Given the description of an element on the screen output the (x, y) to click on. 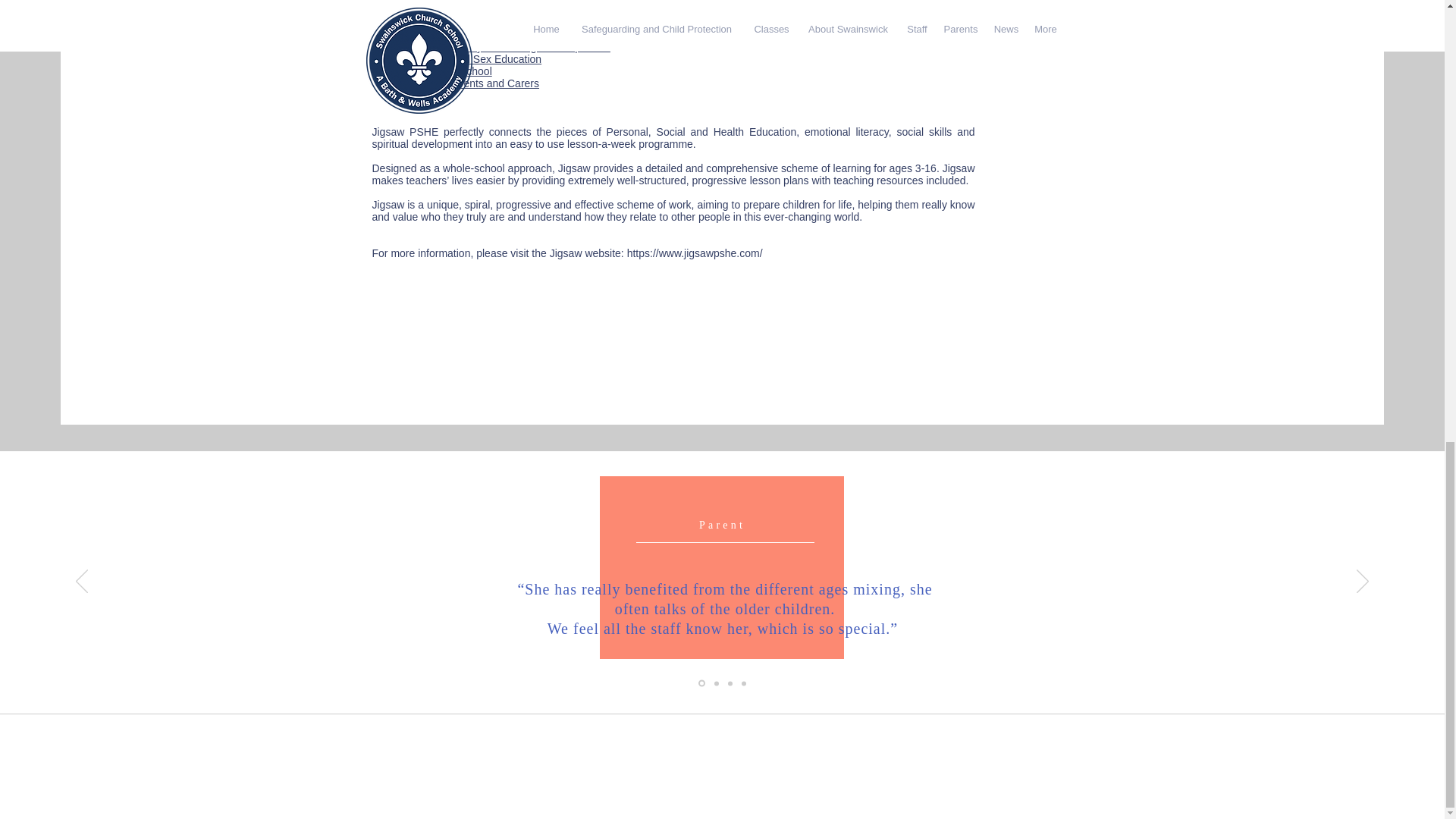
Jigsaw guide for Parents and Carers (476, 10)
Swainswick PHSE including RSE policy - Jigsaw (505, 2)
Foreword - The Secretary of State  (472, 22)
